Given the description of an element on the screen output the (x, y) to click on. 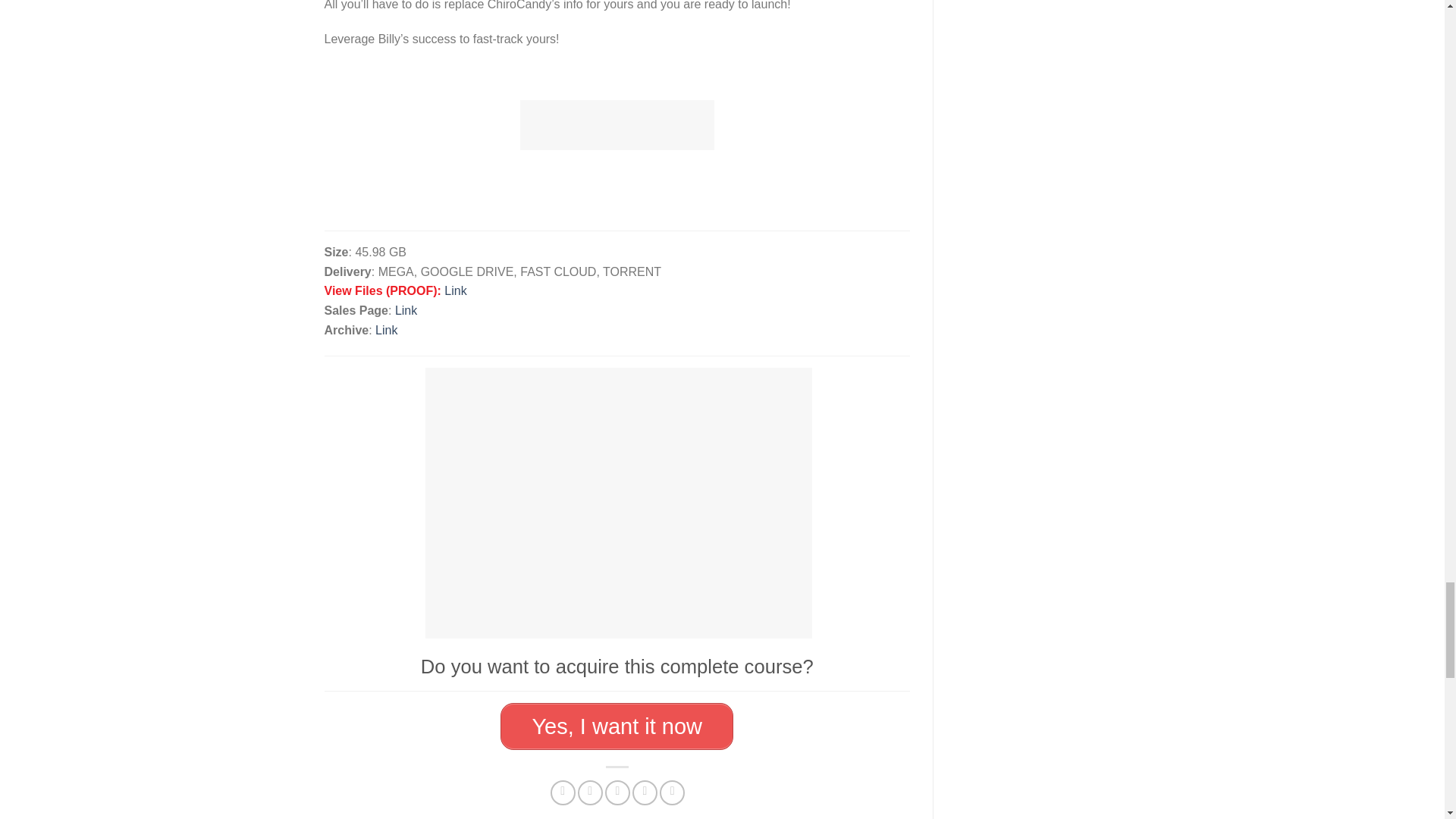
Share on Twitter (590, 792)
Pin on Pinterest (644, 792)
Share on Telegram (671, 792)
Email to a Friend (617, 792)
Link (386, 329)
Link (454, 290)
Share on Facebook (562, 792)
Link (405, 309)
Yes, I want it now (616, 726)
